Given the description of an element on the screen output the (x, y) to click on. 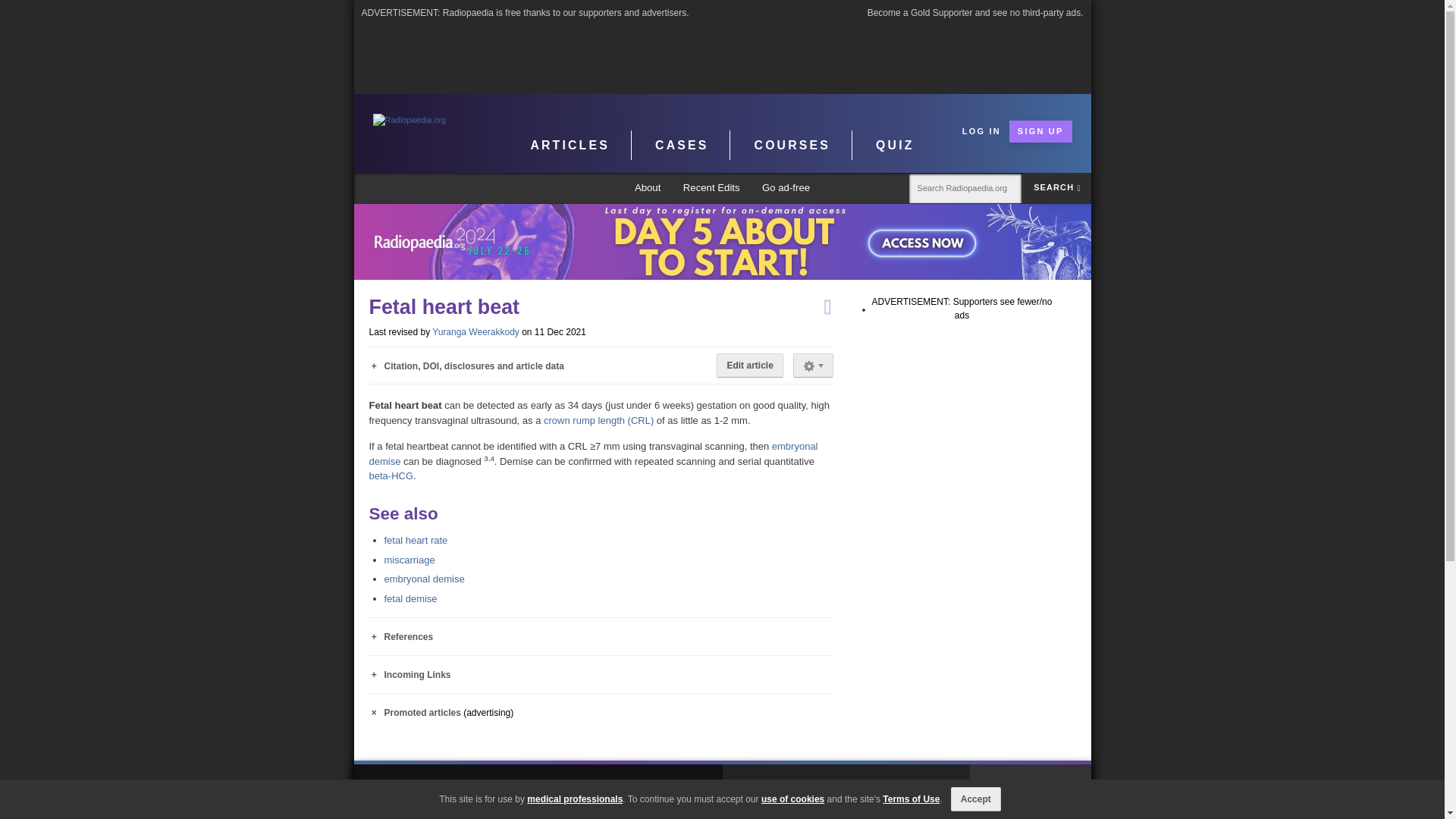
COURSES (791, 145)
LOG IN (981, 131)
Recent Edits (710, 187)
About (647, 187)
Edit article (749, 364)
Yuranga Weerakkody (475, 331)
ACCESS NOW (721, 241)
SIGN UP (1040, 131)
QUIZ (895, 145)
CASES (681, 145)
ARTICLES (569, 145)
SEARCH (1056, 187)
Go ad-free (785, 187)
